Given the description of an element on the screen output the (x, y) to click on. 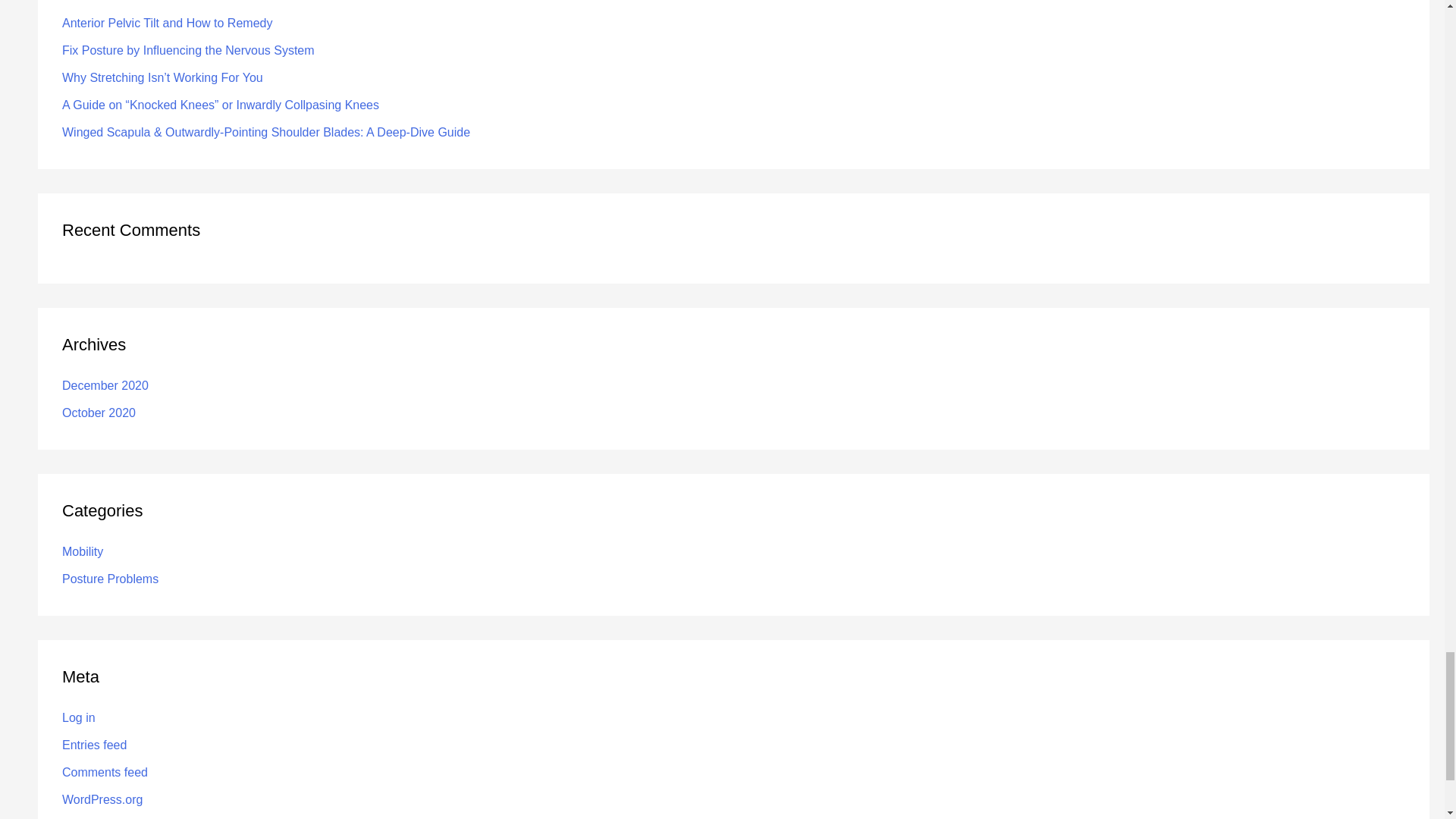
Anterior Pelvic Tilt and How to Remedy (167, 22)
Fix Posture by Influencing the Nervous System (188, 50)
